Given the description of an element on the screen output the (x, y) to click on. 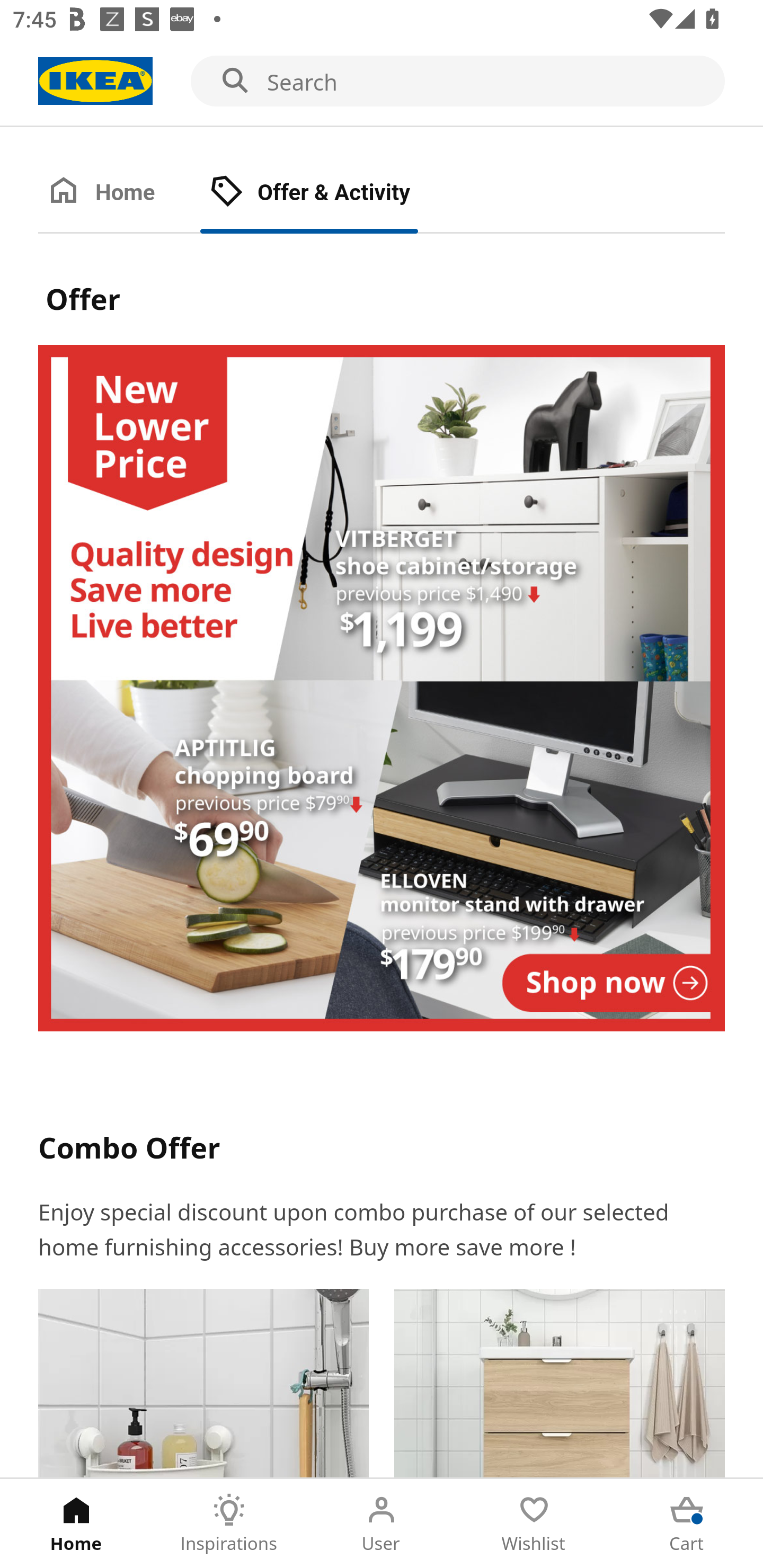
Search (381, 81)
Home
Tab 1 of 2 (118, 192)
Offer & Activity
Tab 2 of 2 (327, 192)
Home
Tab 1 of 5 (76, 1522)
Inspirations
Tab 2 of 5 (228, 1522)
User
Tab 3 of 5 (381, 1522)
Wishlist
Tab 4 of 5 (533, 1522)
Cart
Tab 5 of 5 (686, 1522)
